Given the description of an element on the screen output the (x, y) to click on. 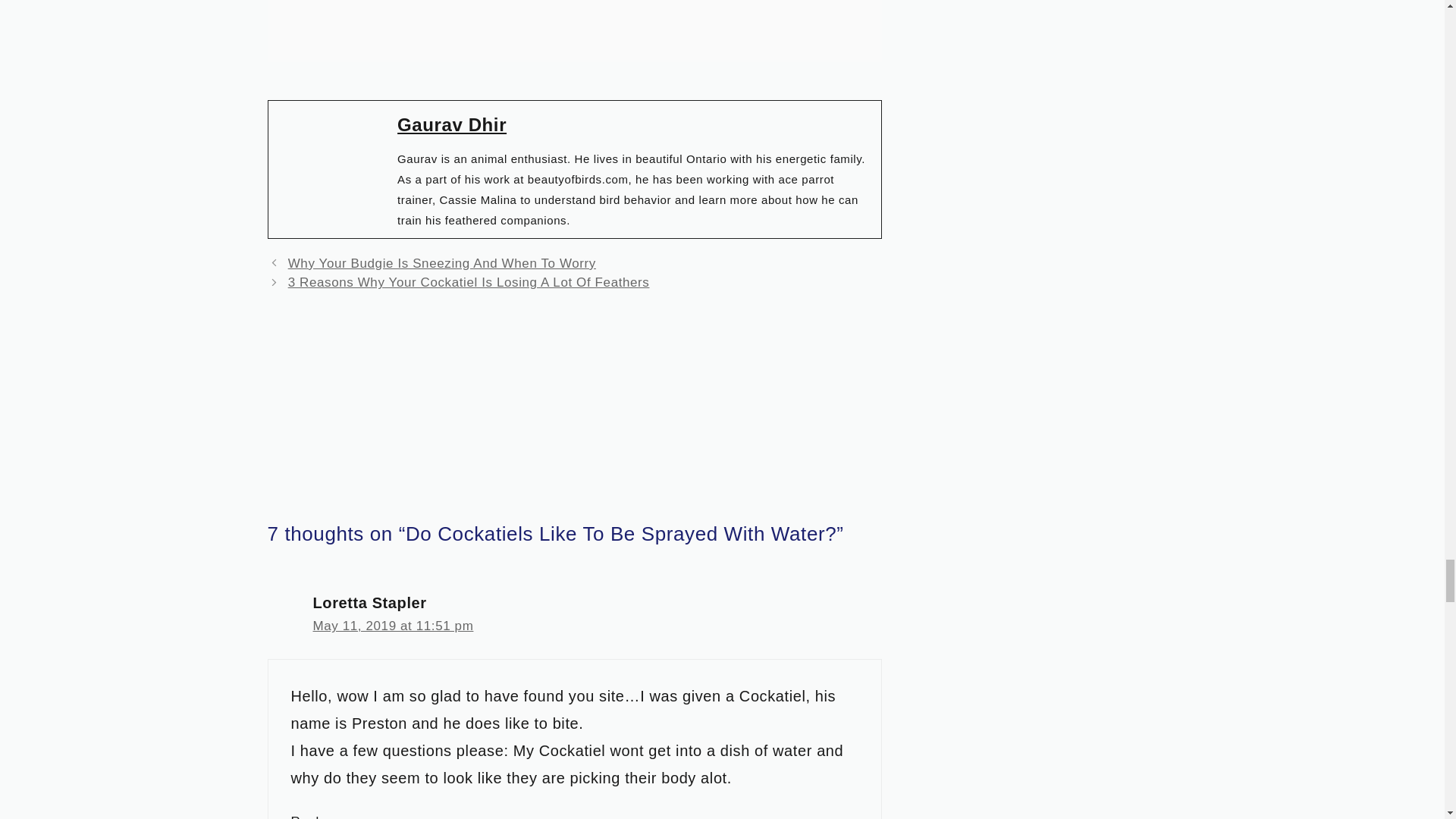
Gaurav Dhir (451, 124)
Reply (308, 816)
3 Reasons Why Your Cockatiel Is Losing A Lot Of Feathers (468, 282)
May 11, 2019 at 11:51 pm (393, 626)
Why Your Budgie Is Sneezing And When To Worry (441, 263)
